Given the description of an element on the screen output the (x, y) to click on. 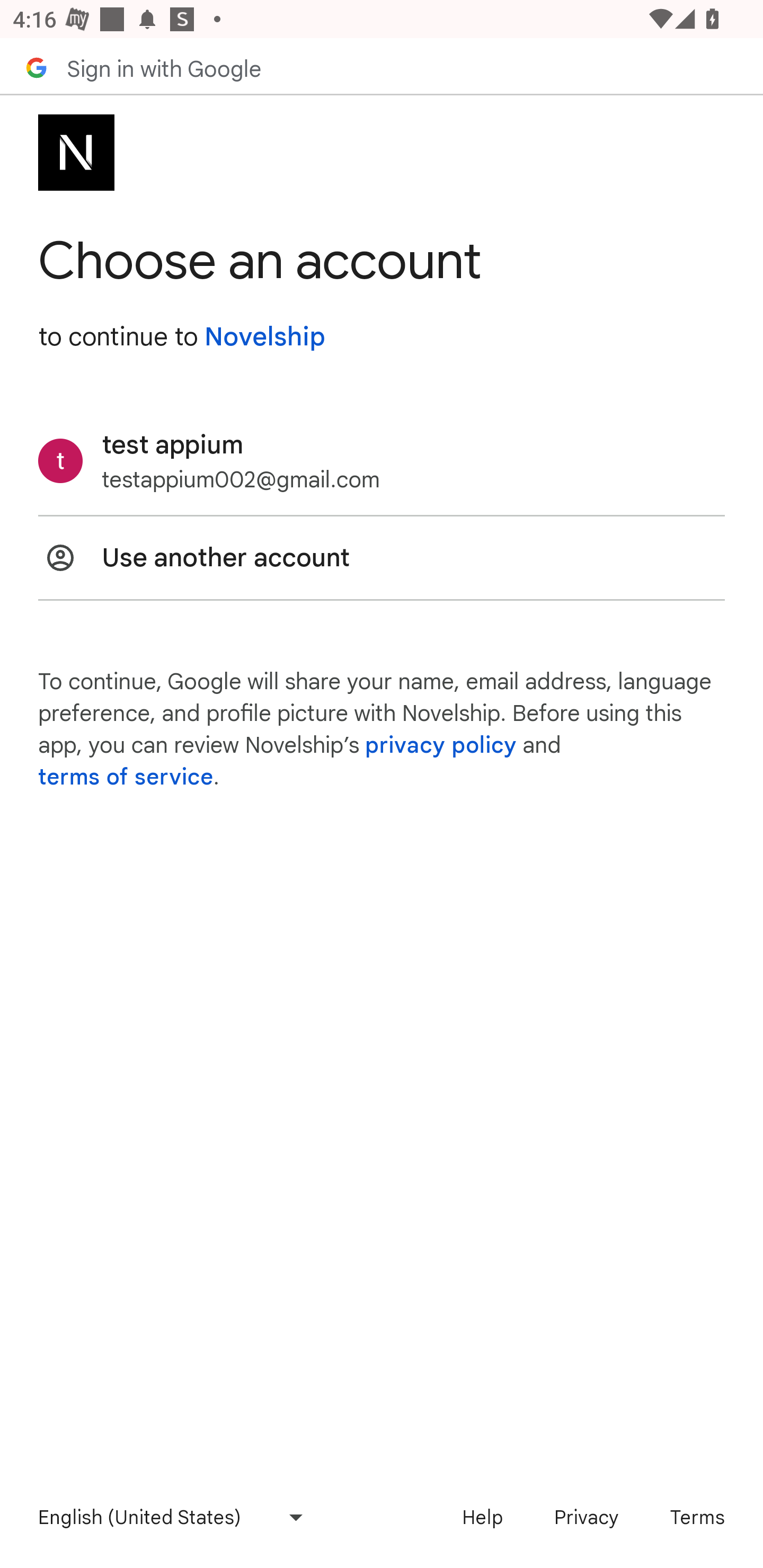
Novelship (264, 336)
Use another account (381, 556)
privacy policy (440, 744)
terms of service (126, 776)
Help (481, 1517)
Privacy (586, 1517)
Terms (696, 1517)
